Given the description of an element on the screen output the (x, y) to click on. 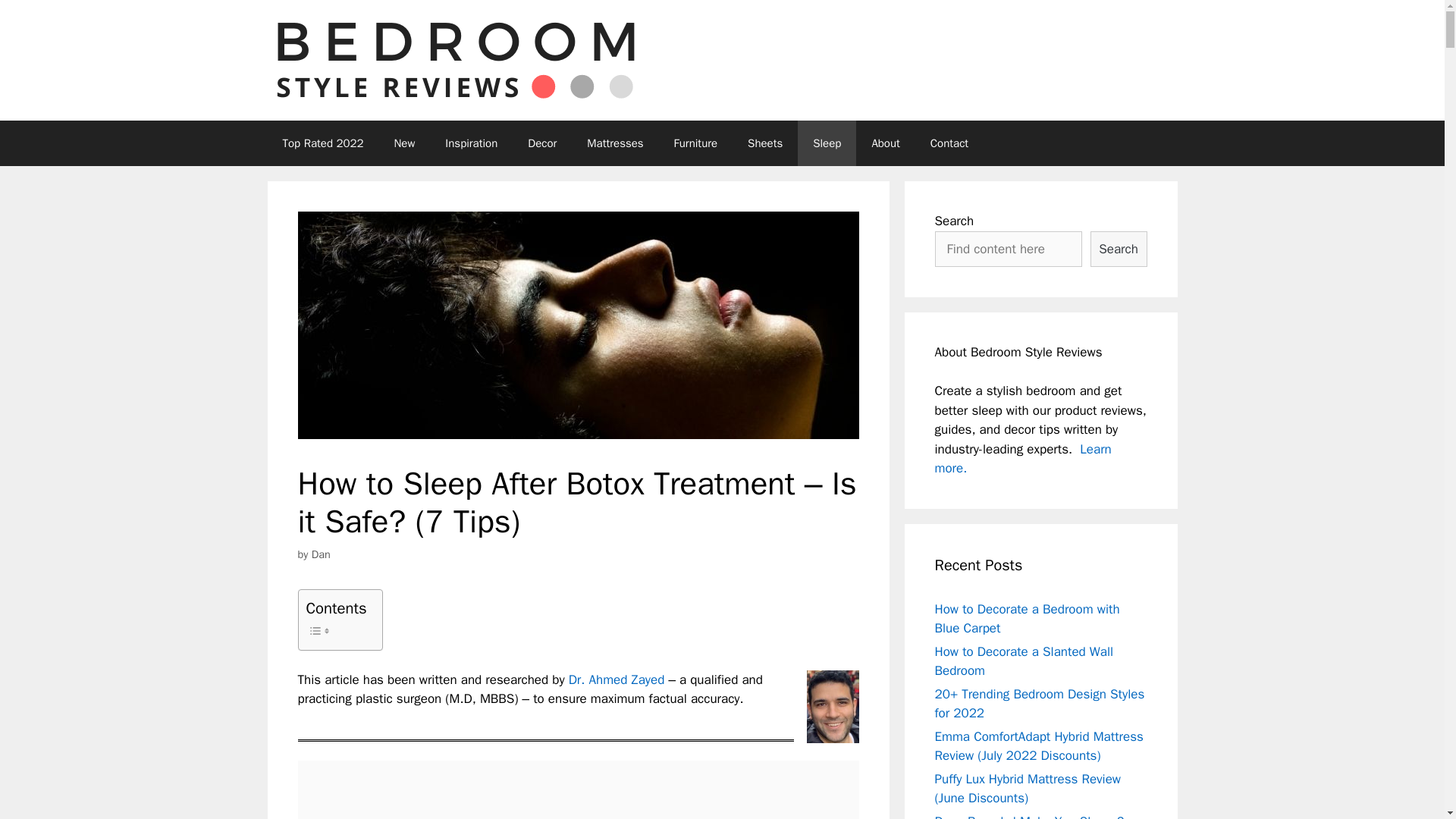
Sleep (826, 143)
Dan (320, 554)
About (885, 143)
Contact (949, 143)
Furniture (696, 143)
View all posts by Dan (320, 554)
New (403, 143)
Inspiration (470, 143)
Top Rated 2022 (322, 143)
Decor (542, 143)
Mattresses (615, 143)
Sheets (764, 143)
